Given the description of an element on the screen output the (x, y) to click on. 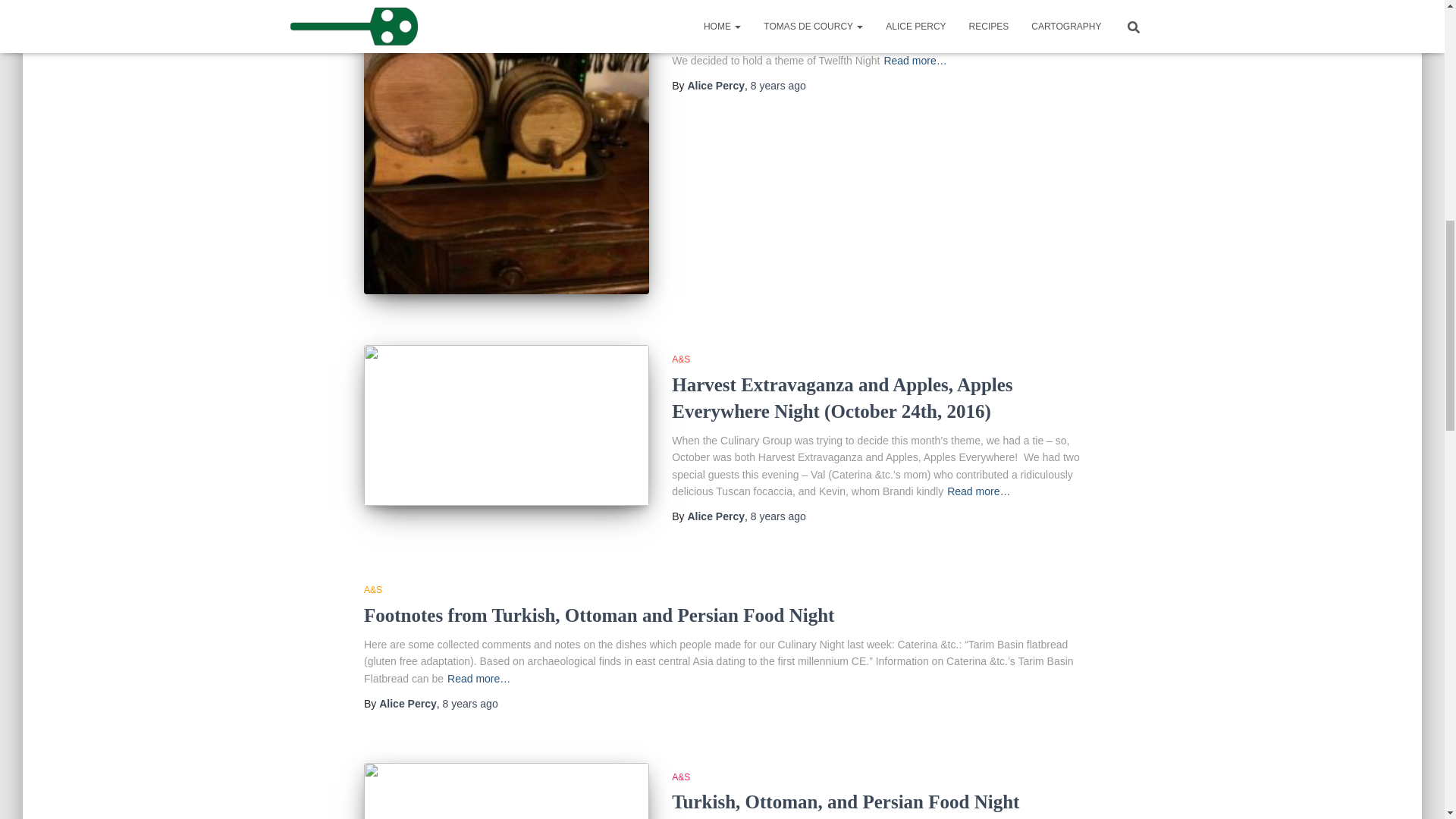
Alice Percy (407, 703)
8 years ago (778, 516)
8 years ago (778, 85)
Footnotes from Turkish, Ottoman and Persian Food Night (599, 615)
Alice Percy (715, 85)
Alice Percy (715, 516)
